Given the description of an element on the screen output the (x, y) to click on. 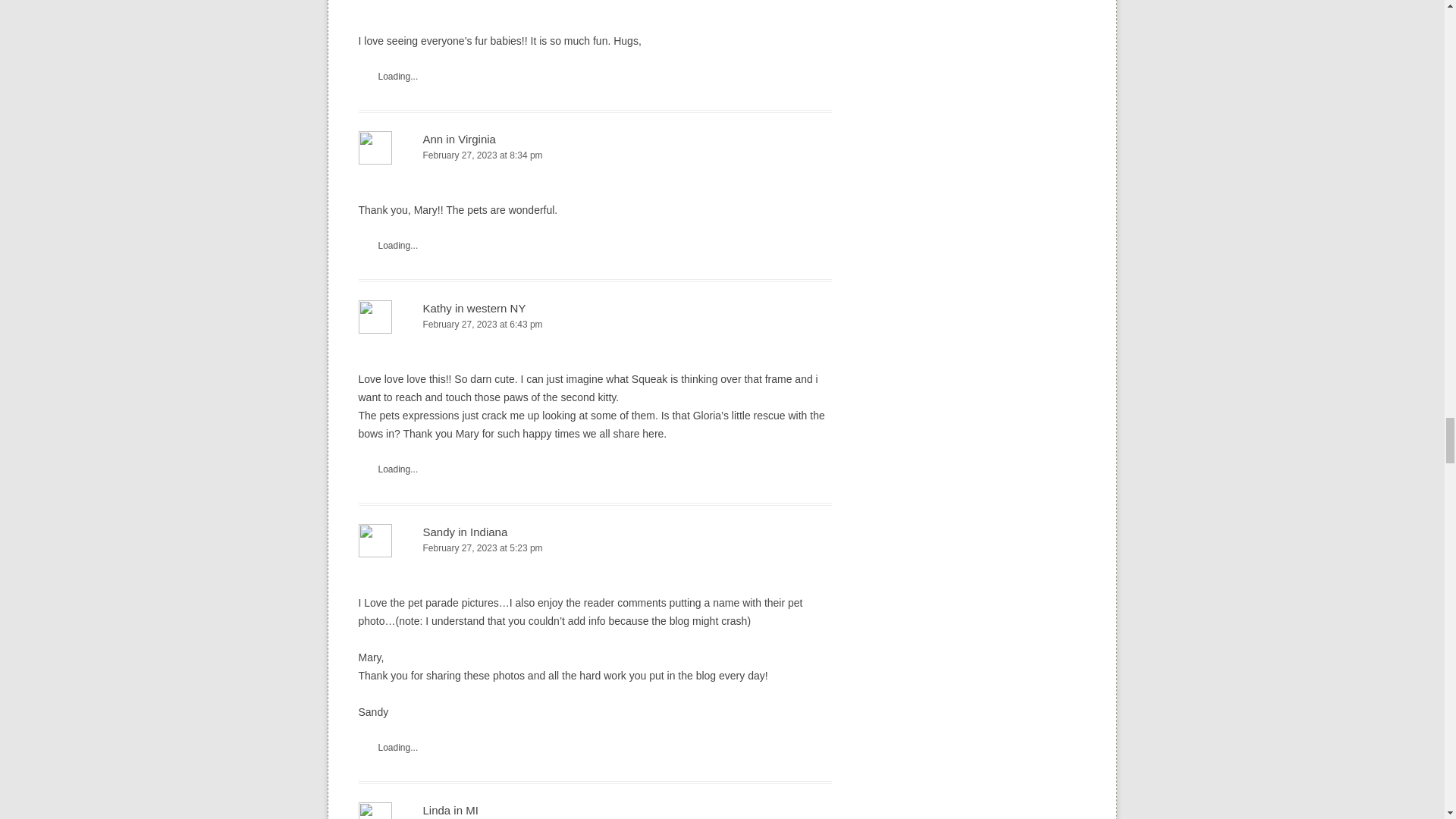
February 27, 2023 at 8:34 pm (594, 155)
February 27, 2023 at 6:43 pm (594, 324)
February 27, 2023 at 5:23 pm (594, 548)
